Given the description of an element on the screen output the (x, y) to click on. 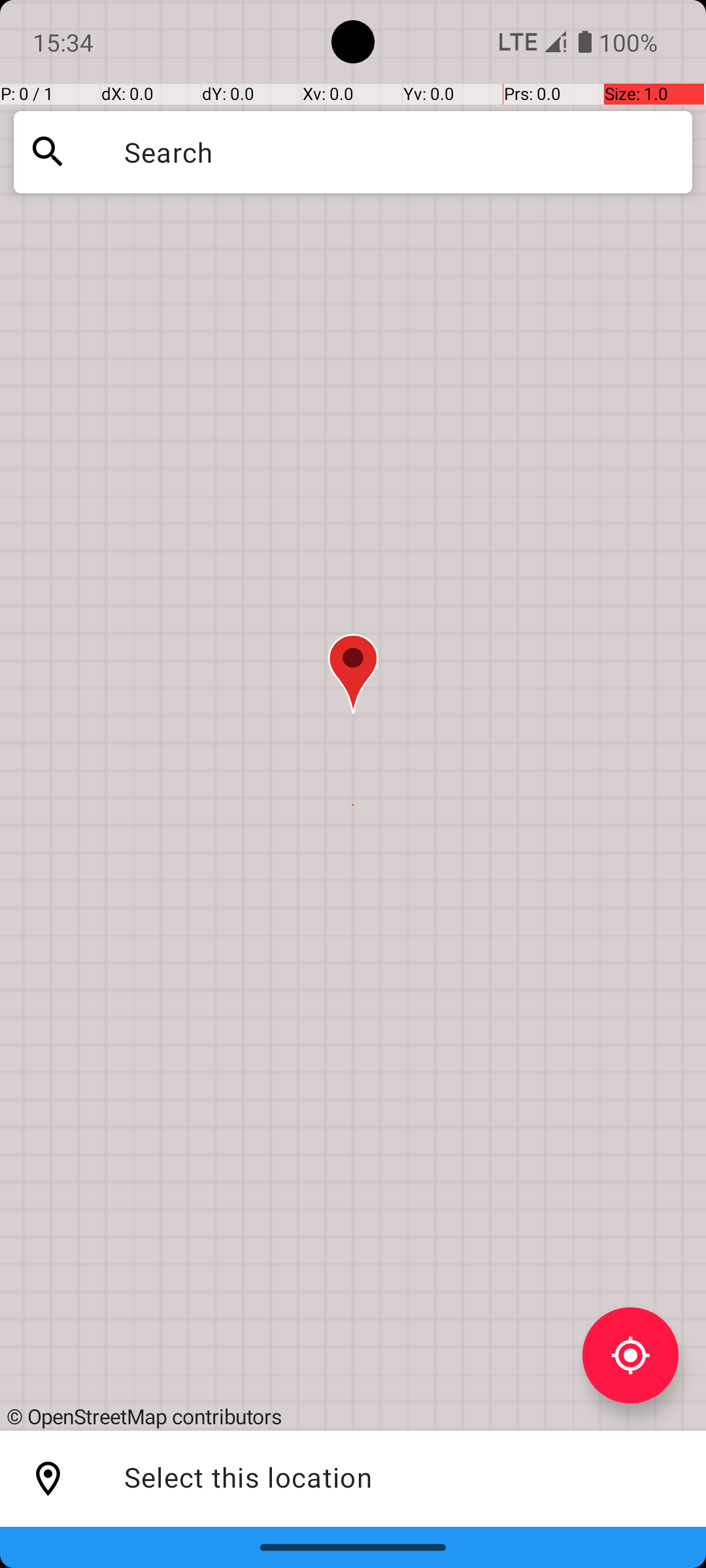
Select this location Element type: android.widget.ImageView (47, 1478)
